Given the description of an element on the screen output the (x, y) to click on. 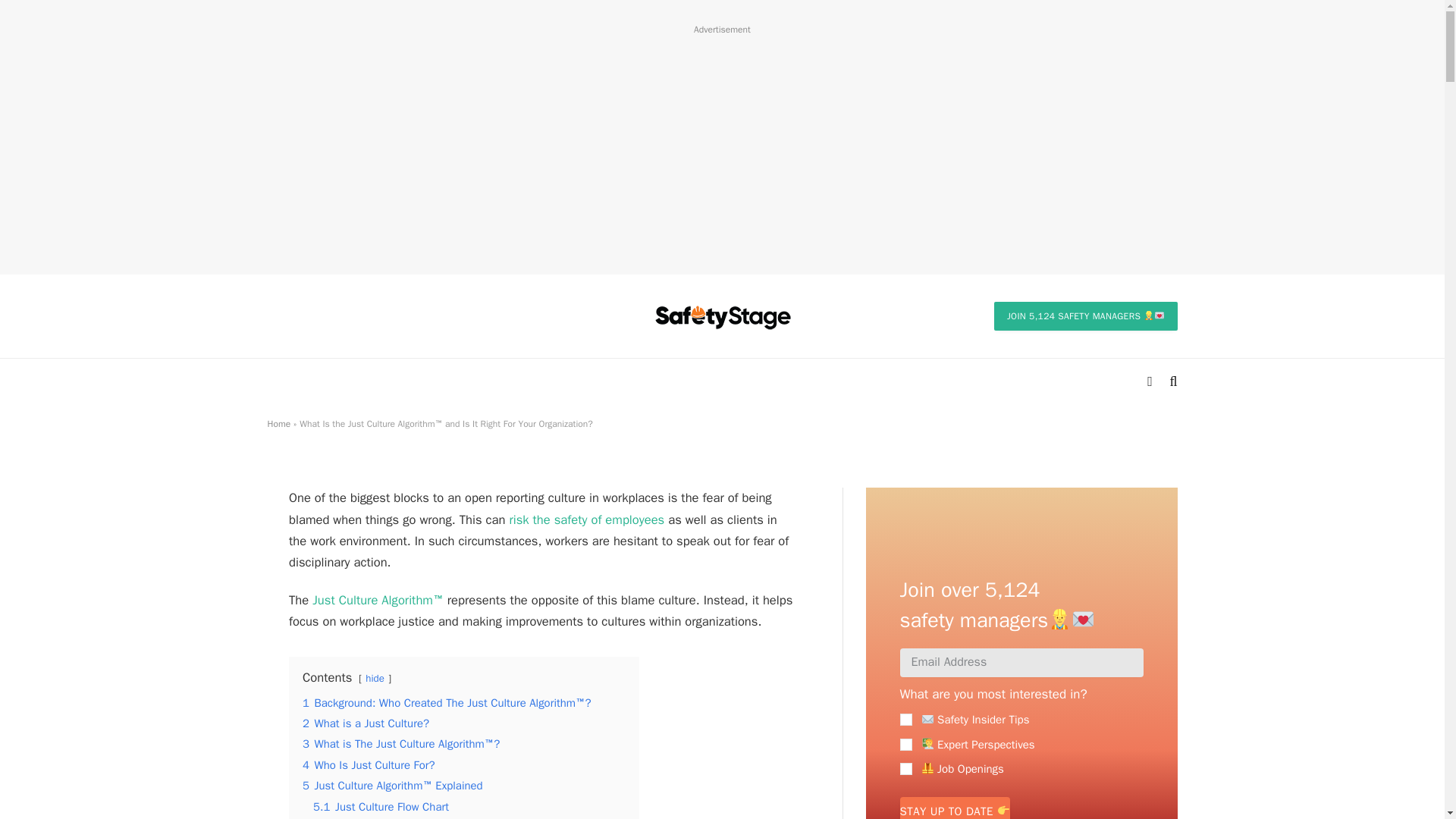
risk the safety of employees (585, 519)
Safetystage (721, 315)
4 Who Is Just Culture For? (367, 765)
JOIN 5,124 SAFETY MANAGERS (1085, 316)
Home (277, 423)
5.1 Just Culture Flow Chart (380, 807)
Switch to Dark Design - easier on eyes. (1149, 381)
2 What is a Just Culture? (365, 723)
hide (374, 677)
